Given the description of an element on the screen output the (x, y) to click on. 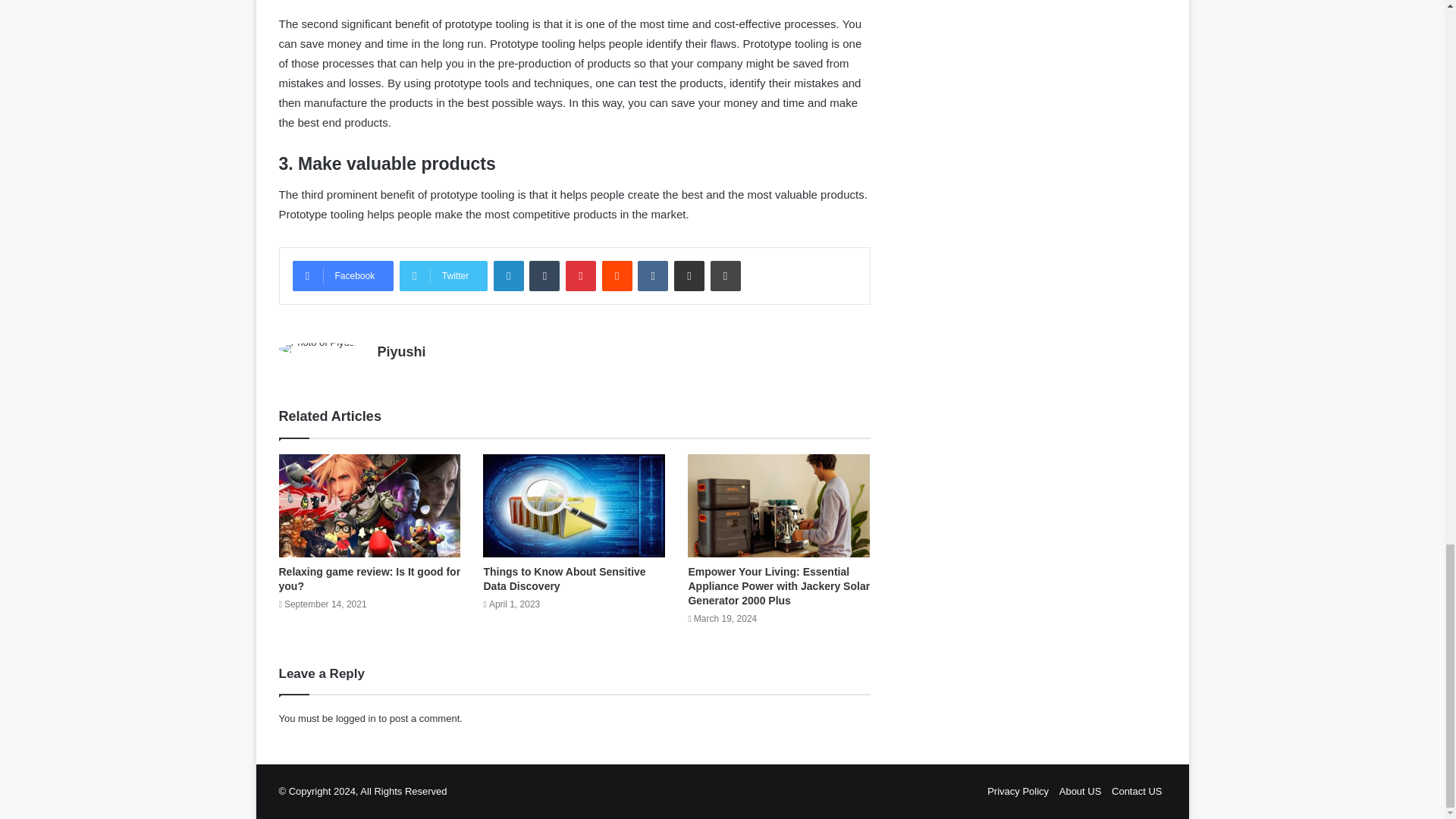
Pinterest (580, 276)
Tumblr (544, 276)
Twitter (442, 276)
VKontakte (652, 276)
Reddit (616, 276)
Tumblr (544, 276)
Facebook (343, 276)
Pinterest (580, 276)
Share via Email (689, 276)
LinkedIn (508, 276)
LinkedIn (508, 276)
Twitter (442, 276)
Facebook (343, 276)
Print (725, 276)
